Given the description of an element on the screen output the (x, y) to click on. 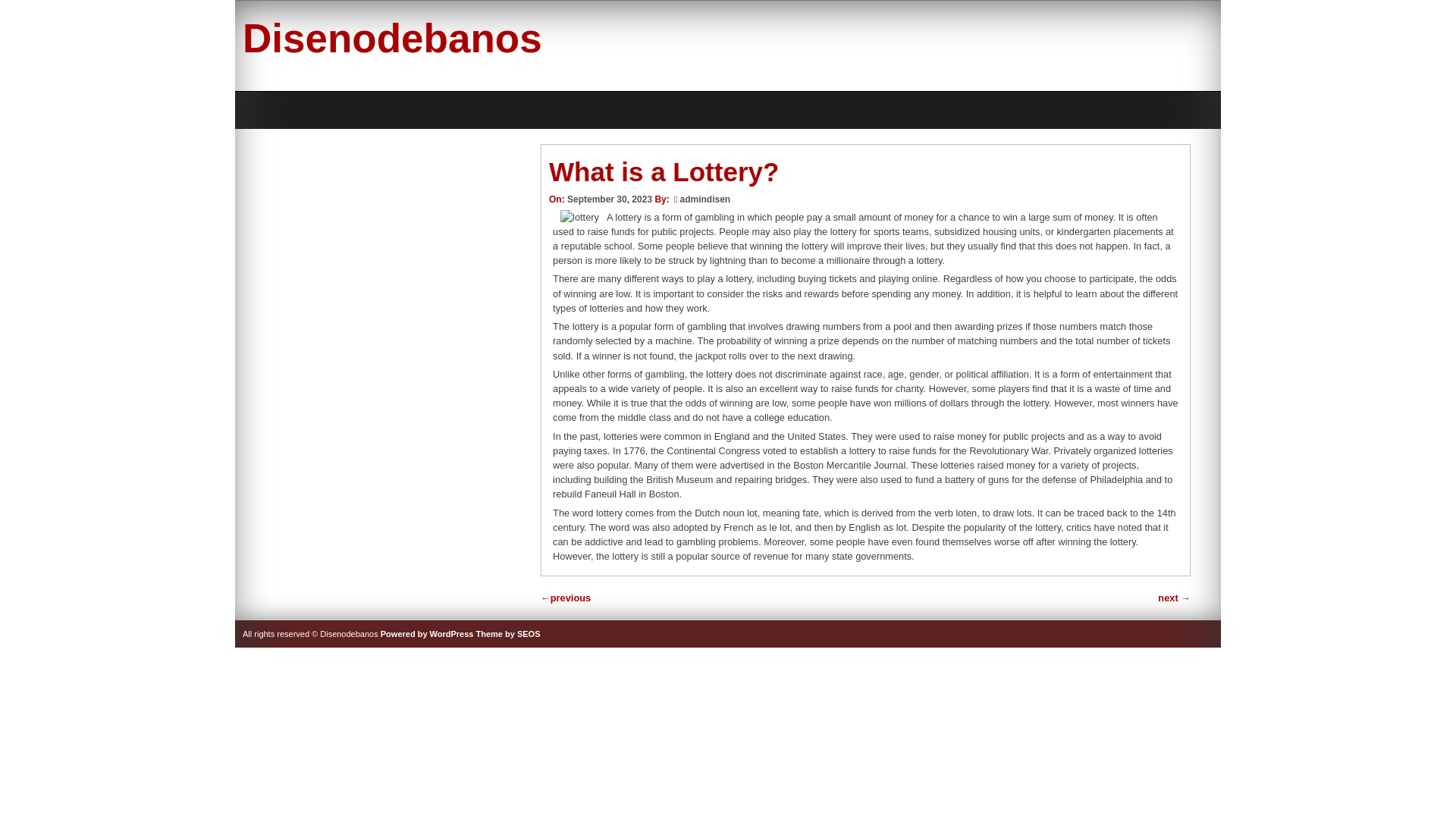
admindisen (704, 199)
September 30, 2023 (609, 199)
Theme by SEOS (508, 633)
Seos free wordpress themes (508, 633)
Powered by WordPress (427, 633)
Disenodebanos (392, 37)
